Given the description of an element on the screen output the (x, y) to click on. 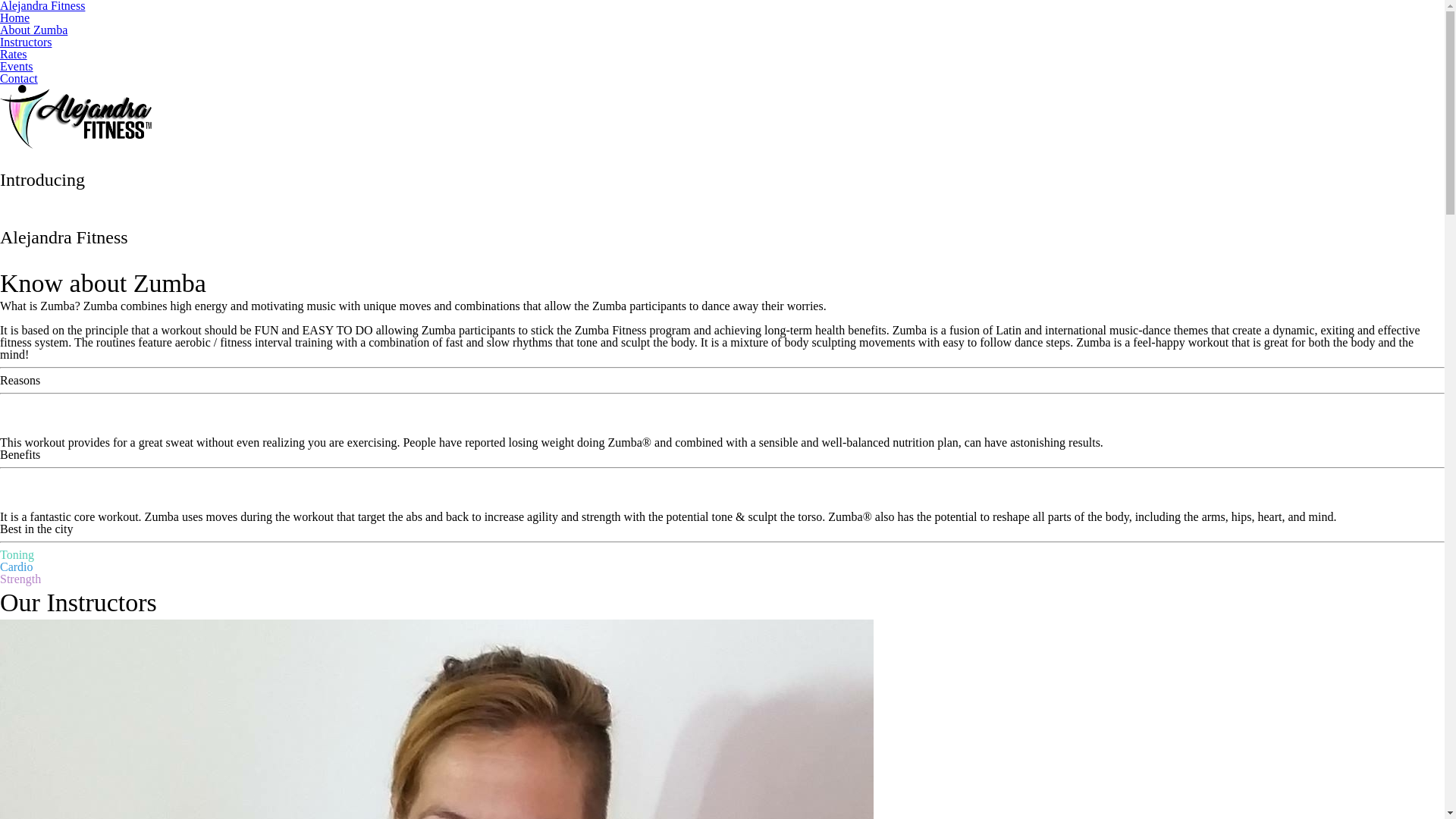
Rates Element type: text (13, 53)
Instructors Element type: text (25, 41)
Events Element type: text (16, 65)
Contact Element type: text (18, 78)
About Zumba Element type: text (33, 29)
Home Element type: text (14, 17)
